Given the description of an element on the screen output the (x, y) to click on. 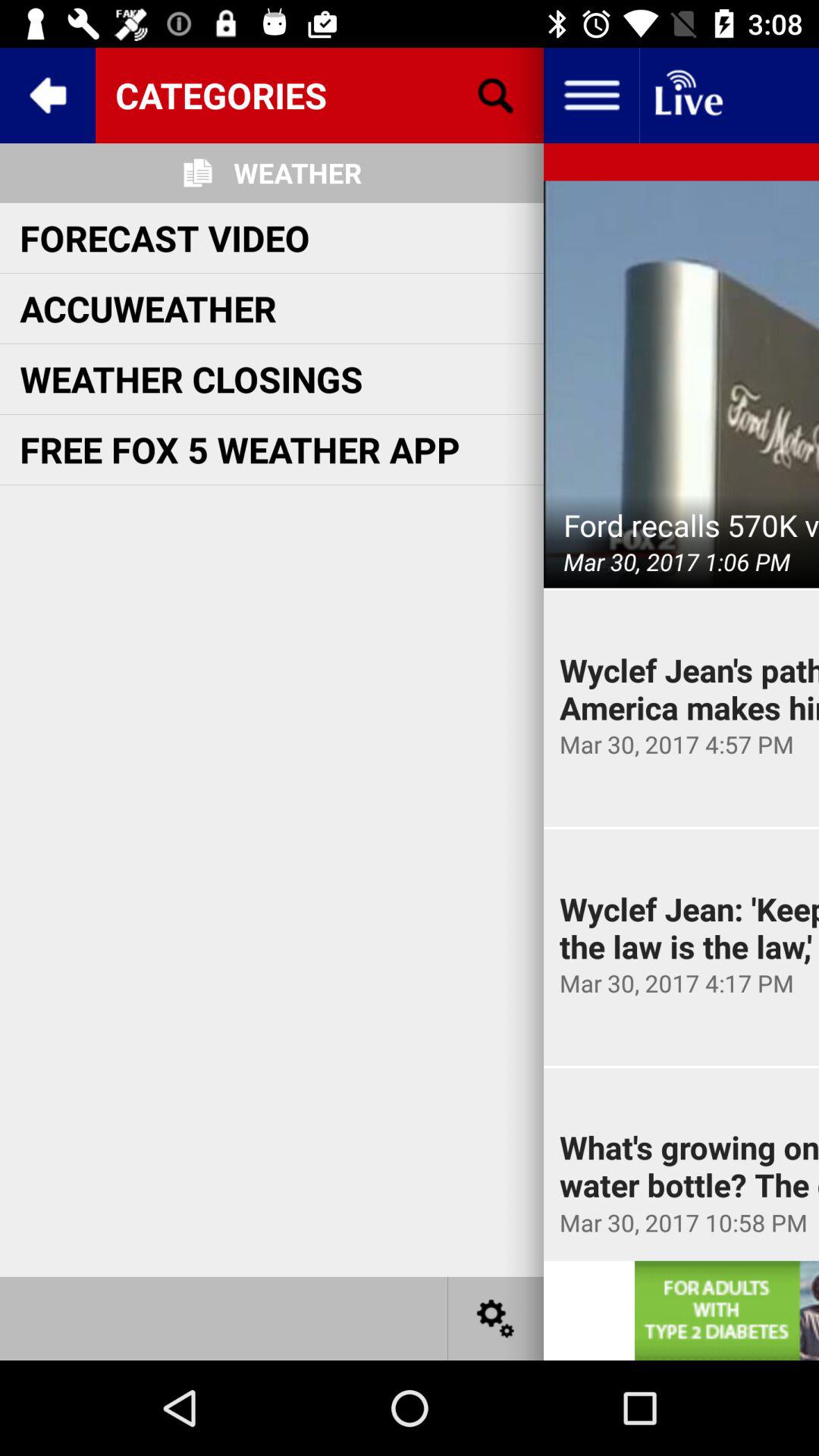
display advertisement (726, 1310)
